Given the description of an element on the screen output the (x, y) to click on. 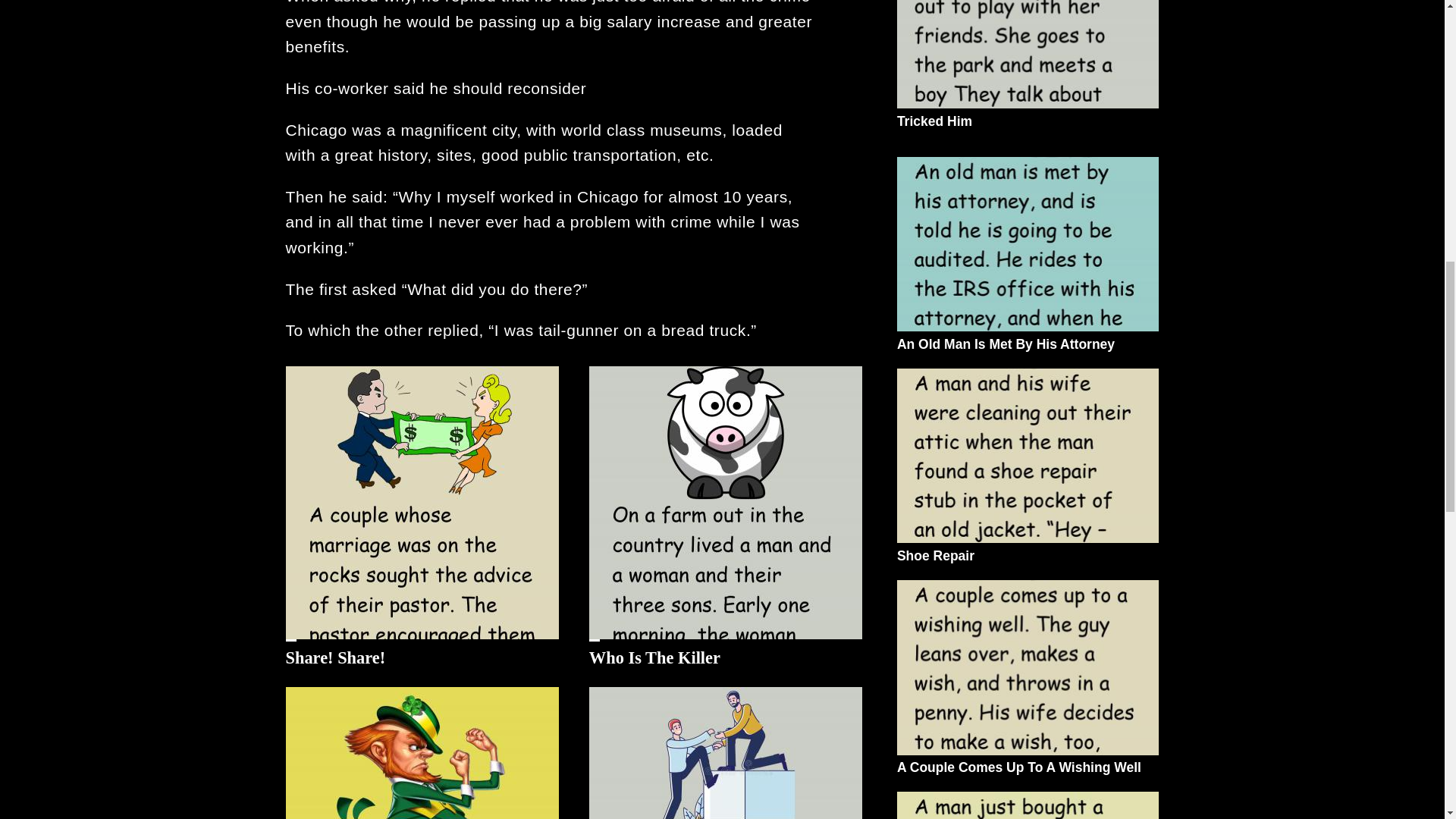
Share! Share! (335, 657)
Who Is The Killer (654, 657)
